Given the description of an element on the screen output the (x, y) to click on. 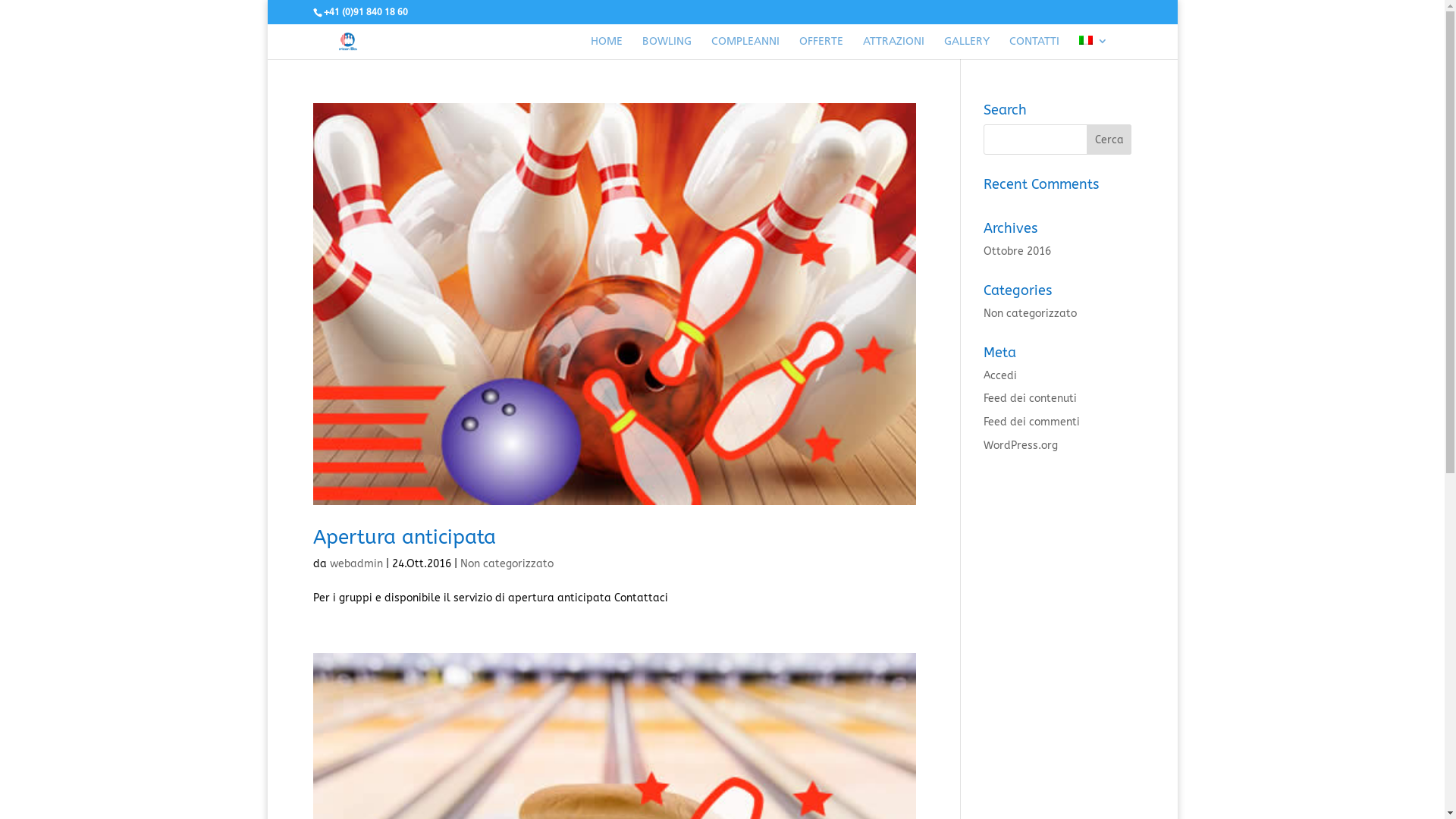
Ottobre 2016 Element type: text (1017, 250)
Cerca Element type: text (1109, 139)
COMPLEANNI Element type: text (745, 48)
Non categorizzato Element type: text (505, 563)
HOME Element type: text (605, 48)
BOWLING Element type: text (665, 48)
GALLERY Element type: text (965, 48)
Apertura anticipata Element type: text (403, 537)
Non categorizzato Element type: text (1029, 313)
Feed dei commenti Element type: text (1031, 421)
Italiano Element type: hover (1085, 39)
webadmin Element type: text (355, 563)
OFFERTE Element type: text (821, 48)
ATTRAZIONI Element type: text (893, 48)
CONTATTI Element type: text (1033, 48)
WordPress.org Element type: text (1020, 445)
Feed dei contenuti Element type: text (1029, 398)
Accedi Element type: text (999, 375)
